Given the description of an element on the screen output the (x, y) to click on. 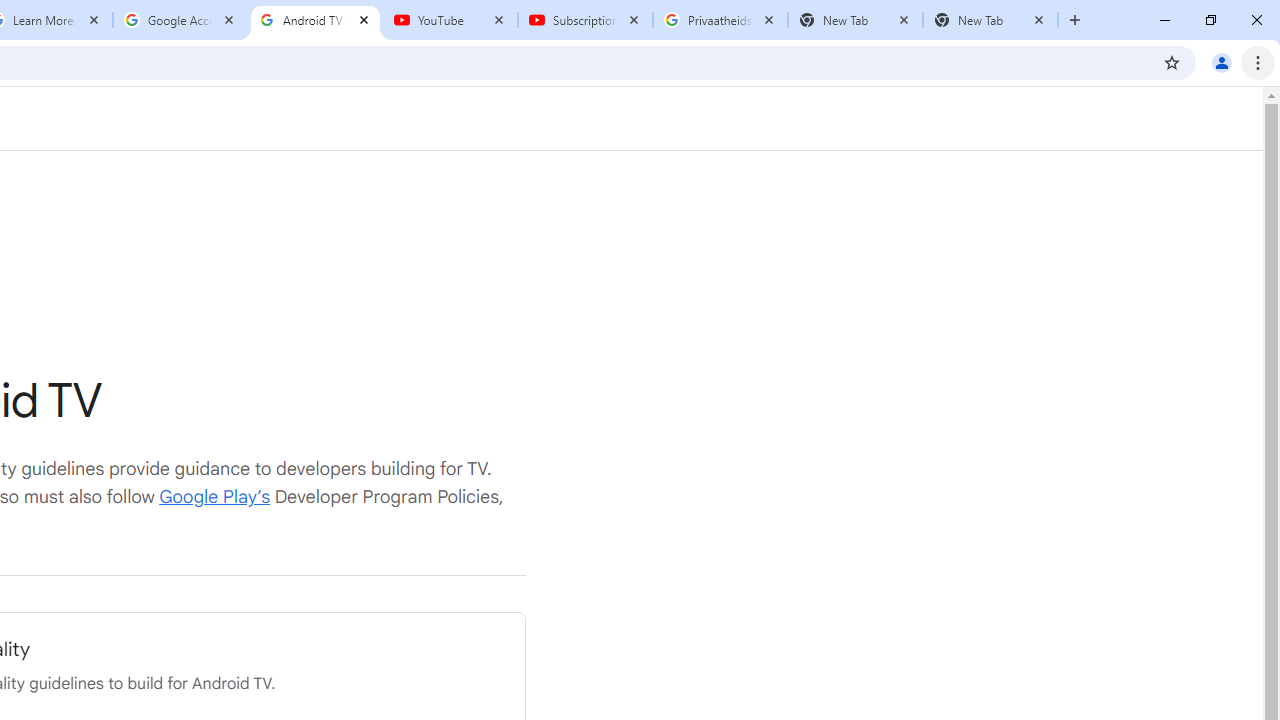
Google Account (180, 20)
Android TV Policies and Guidelines - Transparency Center (315, 20)
New Tab (990, 20)
Subscriptions - YouTube (585, 20)
YouTube (450, 20)
